Given the description of an element on the screen output the (x, y) to click on. 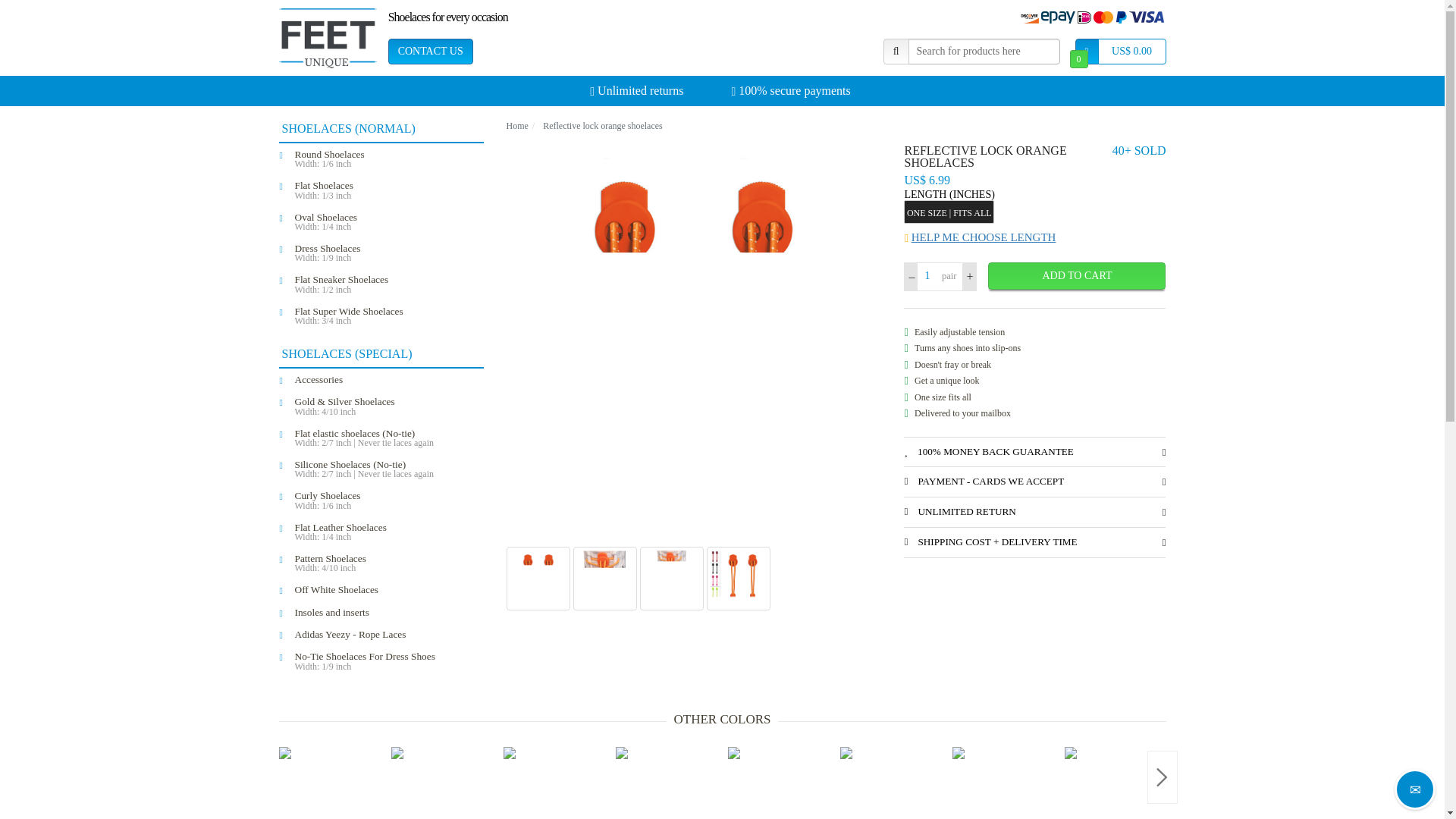
CONTACT US (430, 51)
Off White Shoelaces (387, 589)
Insoles and inserts (387, 611)
HELP ME CHOOSE LENGTH (1035, 237)
Elastic lock blue shoelaces (896, 782)
Reflective lock black shoelaces (447, 782)
Reflective lock navy blue shoelaces (784, 782)
Elastic lock white shoelaces (559, 782)
Home (517, 125)
Adidas Yeezy - Rope Laces (387, 634)
